Given the description of an element on the screen output the (x, y) to click on. 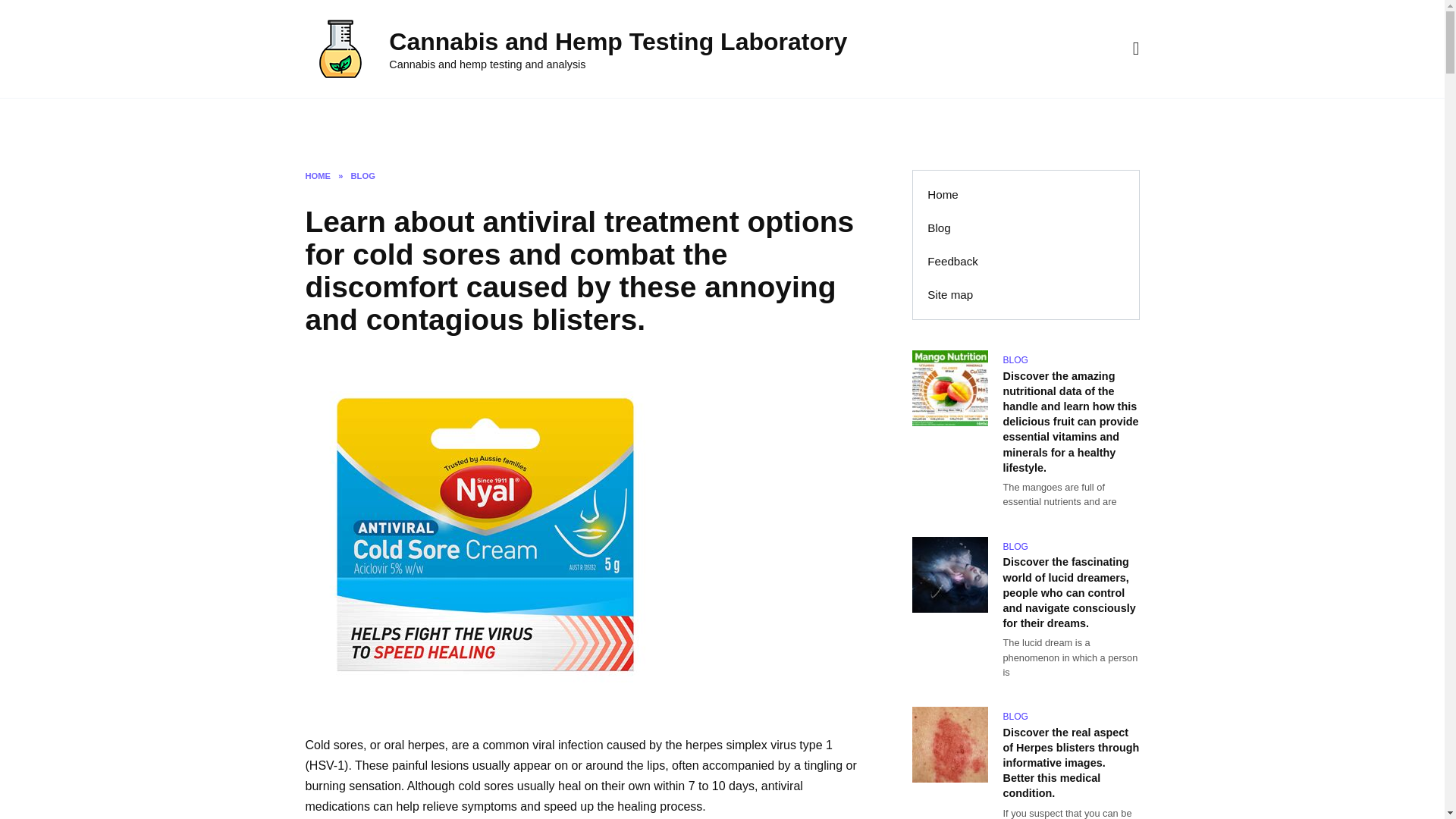
Home (943, 194)
Blog (939, 227)
Home (325, 122)
Blog (378, 122)
Feedback (442, 122)
Site map (950, 295)
HOME (317, 175)
Site map (518, 122)
Cannabis and Hemp Testing Laboratory (617, 41)
Feedback (952, 261)
BLOG (362, 175)
